Given the description of an element on the screen output the (x, y) to click on. 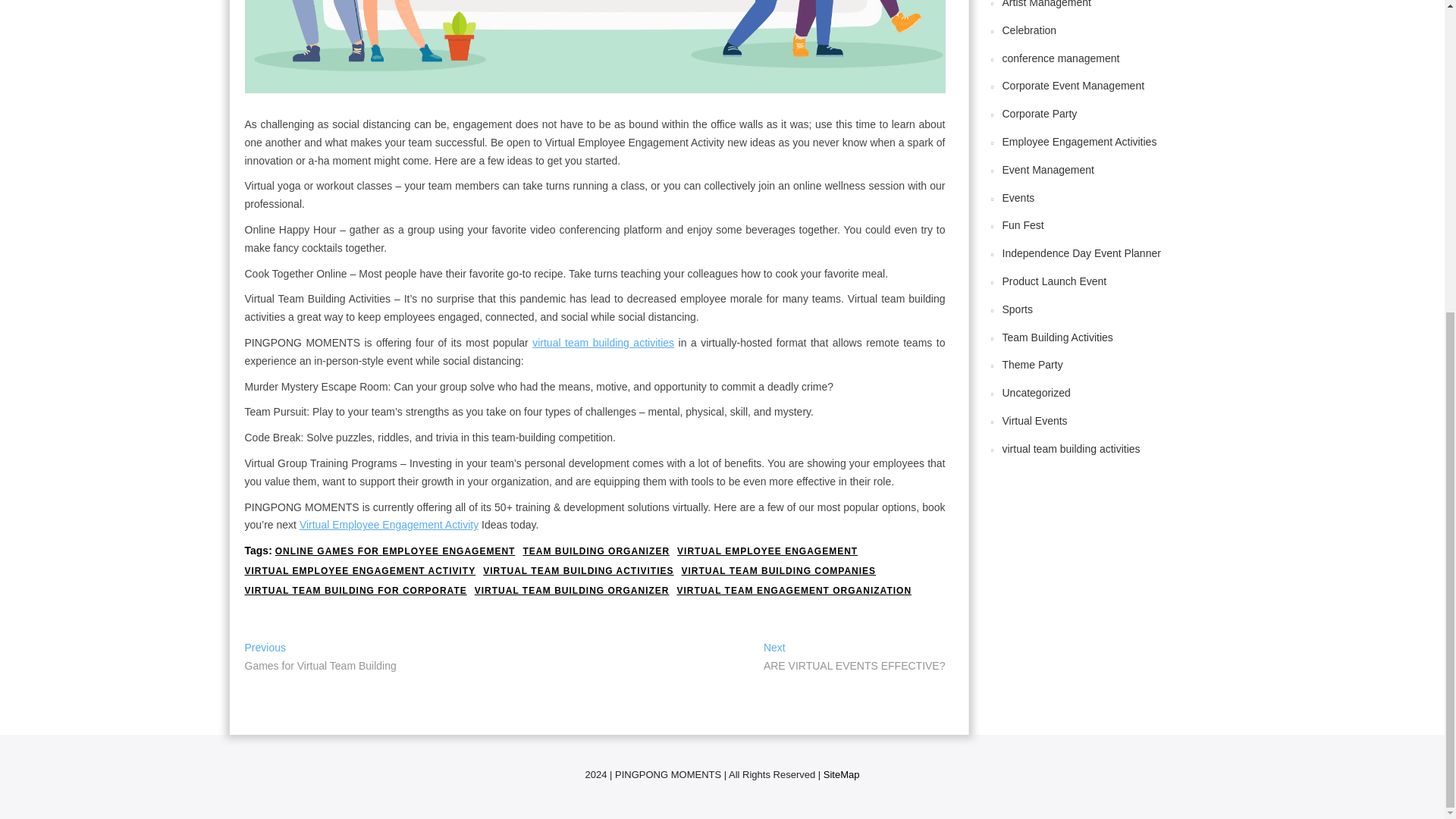
VIRTUAL TEAM BUILDING ACTIVITIES (577, 571)
VIRTUAL TEAM BUILDING FOR CORPORATE (320, 658)
VIRTUAL TEAM ENGAGEMENT ORGANIZATION (354, 590)
Corporate Party (794, 590)
Corporate Event Management (853, 658)
Celebration (1040, 113)
Artist Management (1073, 85)
VIRTUAL TEAM BUILDING ORGANIZER (1030, 30)
Employee Engagement Activities (1047, 4)
conference management (571, 590)
TEAM BUILDING ORGANIZER (1080, 141)
VIRTUAL EMPLOYEE ENGAGEMENT ACTIVITY (1061, 58)
Virtual Employee Engagement Activity (595, 551)
